Given the description of an element on the screen output the (x, y) to click on. 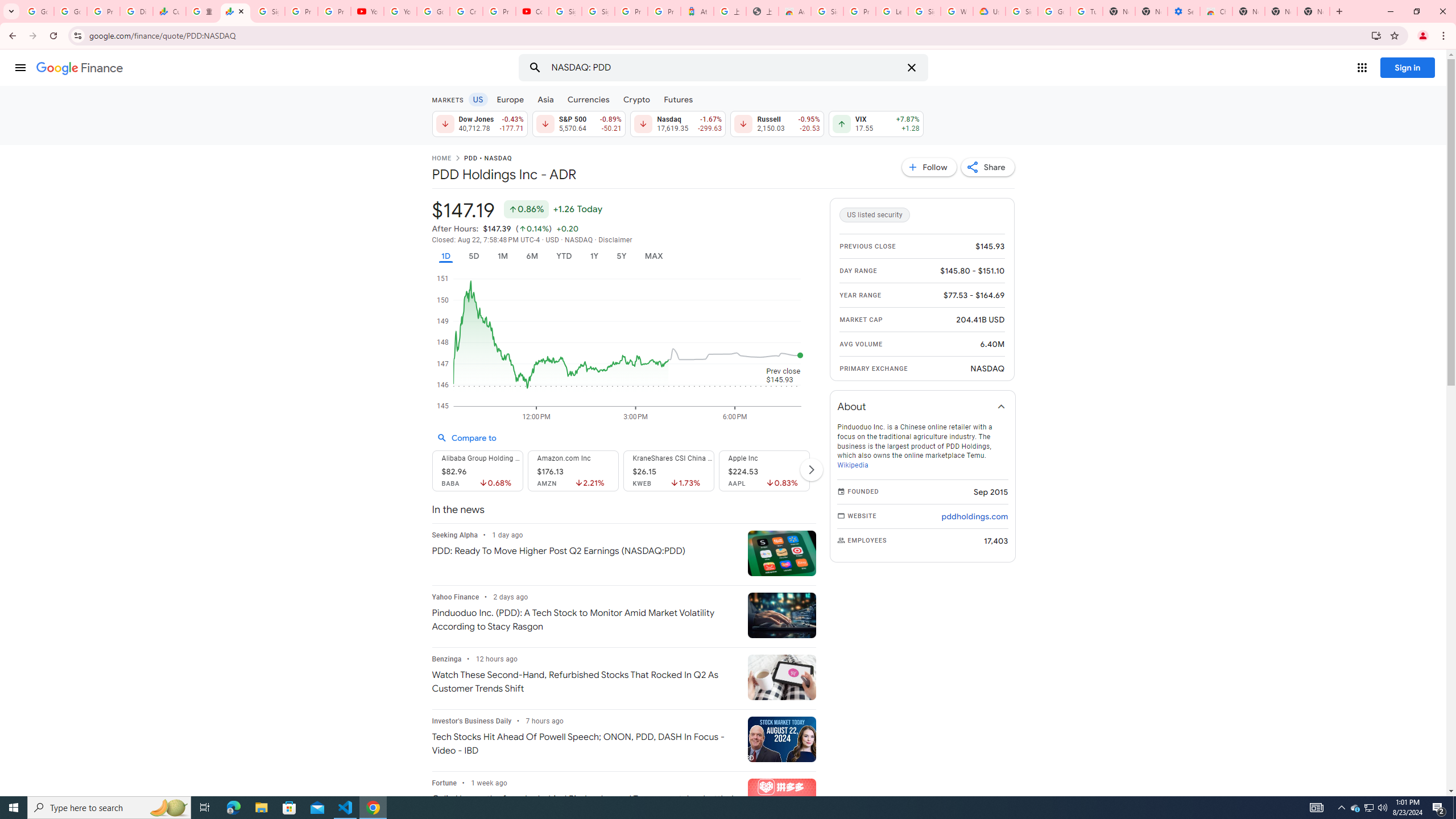
Clear search (911, 67)
About (923, 406)
5Y (621, 255)
Dow Jones 40,712.78 Down by 0.43% -177.71 (478, 123)
Disclaimer (614, 239)
pddholdings.com (974, 516)
Currencies (588, 99)
Google Account Help (433, 11)
HOME (440, 158)
Privacy Checkup (334, 11)
